Given the description of an element on the screen output the (x, y) to click on. 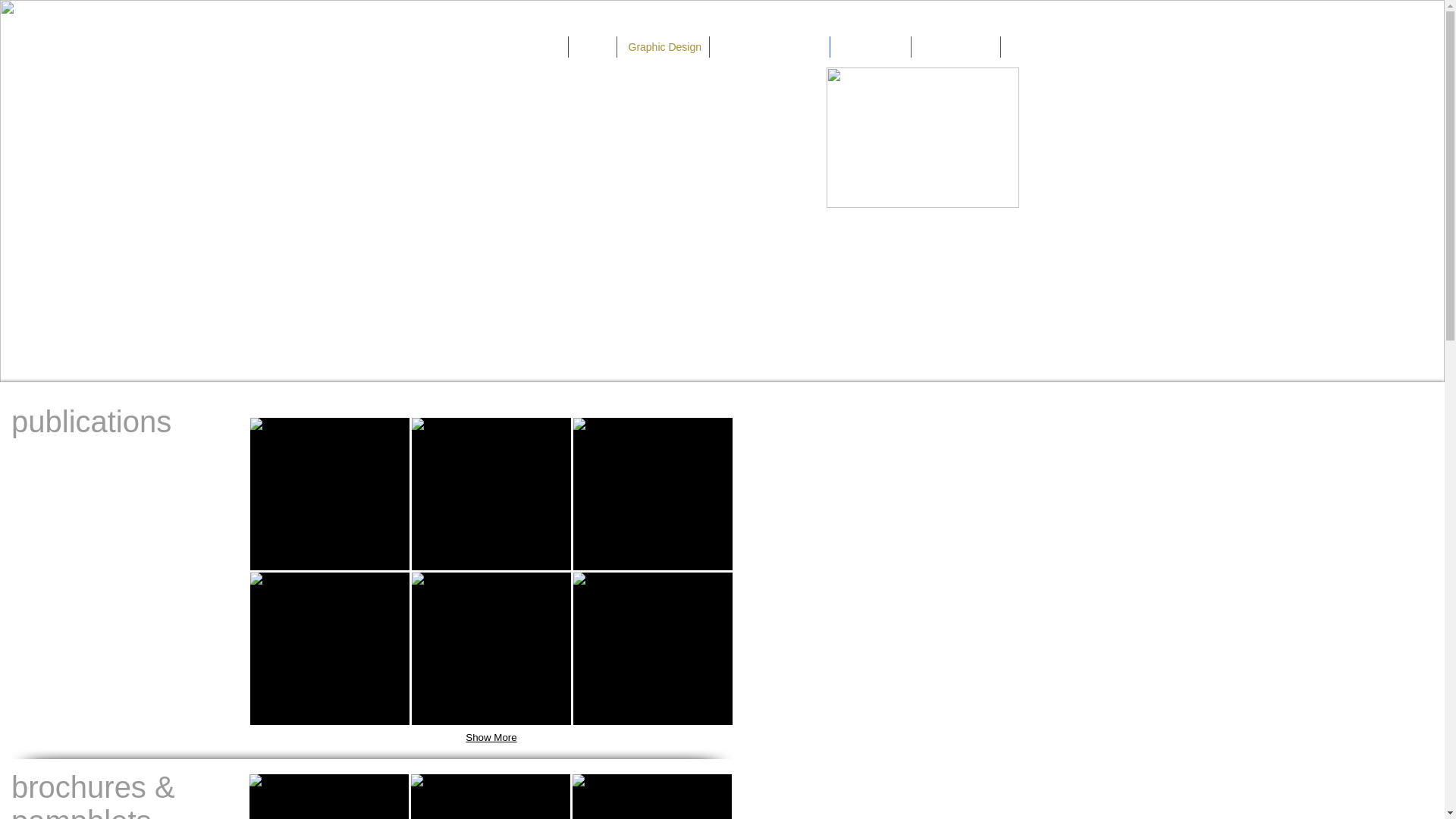
Graphic Design (663, 46)
SS25.png (923, 137)
Pet Canvas Art (955, 46)
Photography (869, 46)
Home (542, 46)
About (592, 46)
Show More (491, 738)
Contact (1029, 46)
